Given the description of an element on the screen output the (x, y) to click on. 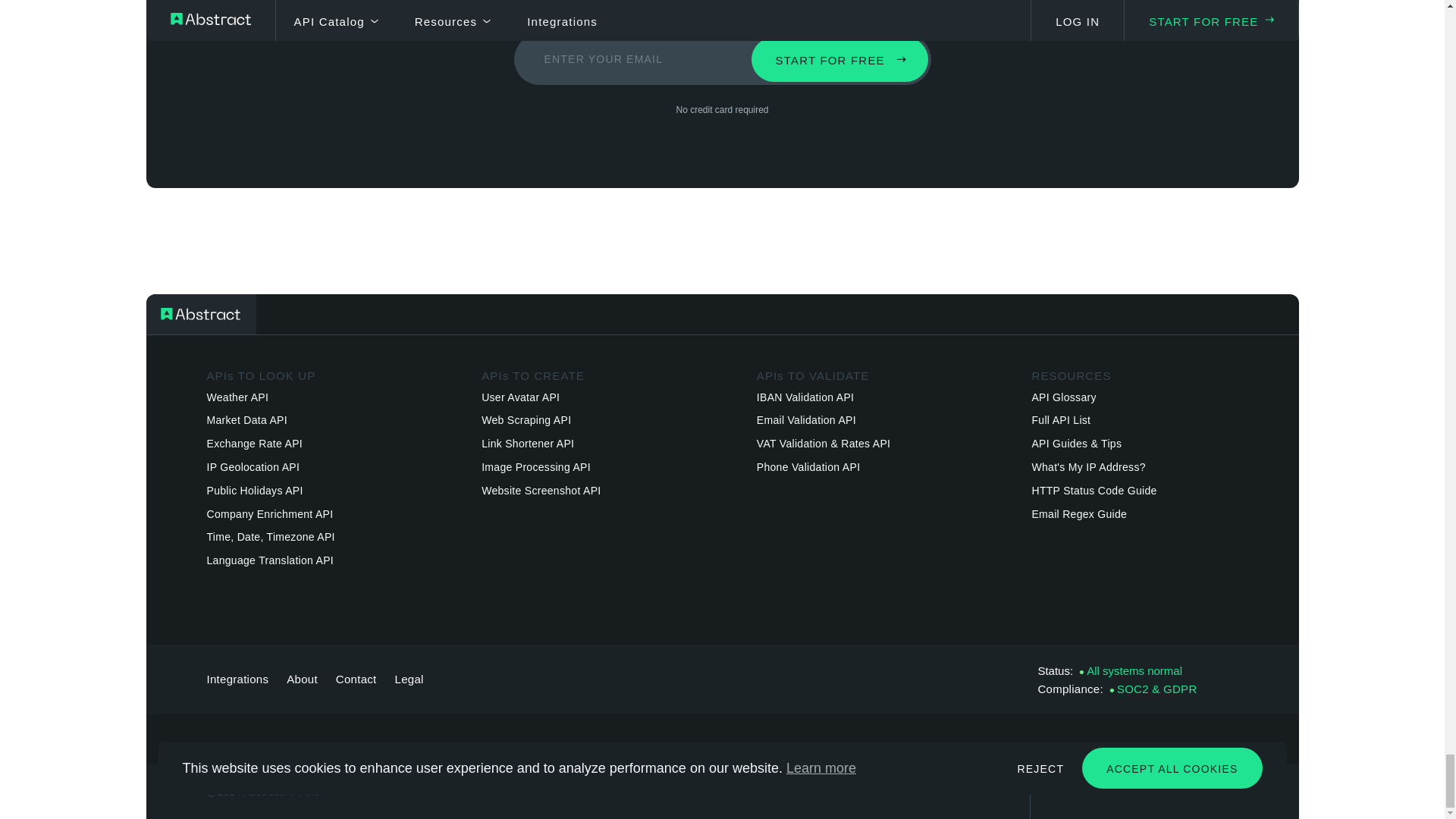
S (839, 58)
